Given the description of an element on the screen output the (x, y) to click on. 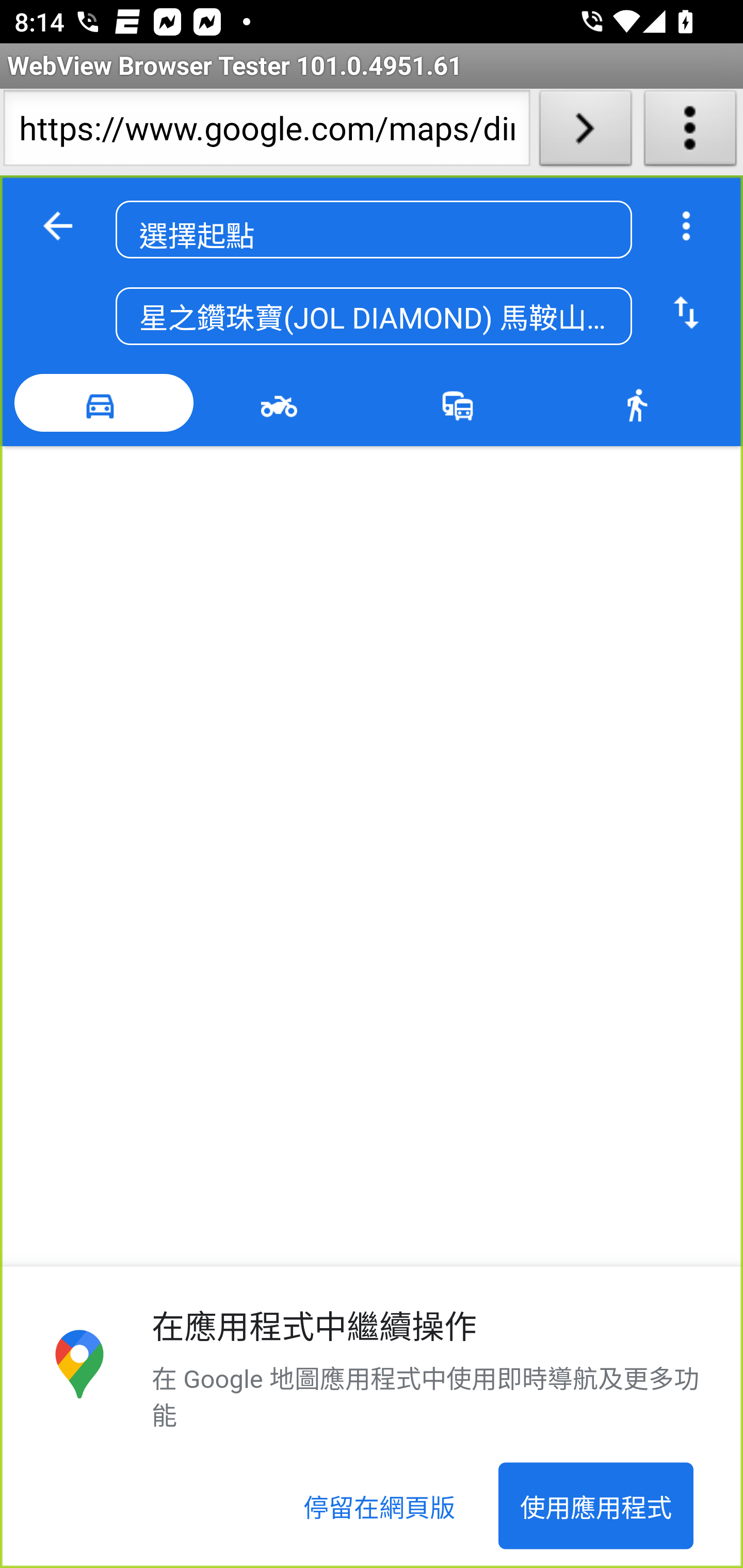
Load URL (585, 132)
About WebView (690, 132)
返回 (58, 226)
更多選項 (686, 226)
將起點和終點對調 (686, 313)
星之鑽珠寶(JOL DIAMOND) 馬鞍山馬鞍山廣場265C鋪, 沙田 (373, 316)
駕駛模式 (104, 402)
機車模式 (282, 402)
大眾運輸模式 (462, 402)
步行模式 (640, 402)
停留在網頁版 (379, 1505)
使用應用程式 (595, 1505)
